Given the description of an element on the screen output the (x, y) to click on. 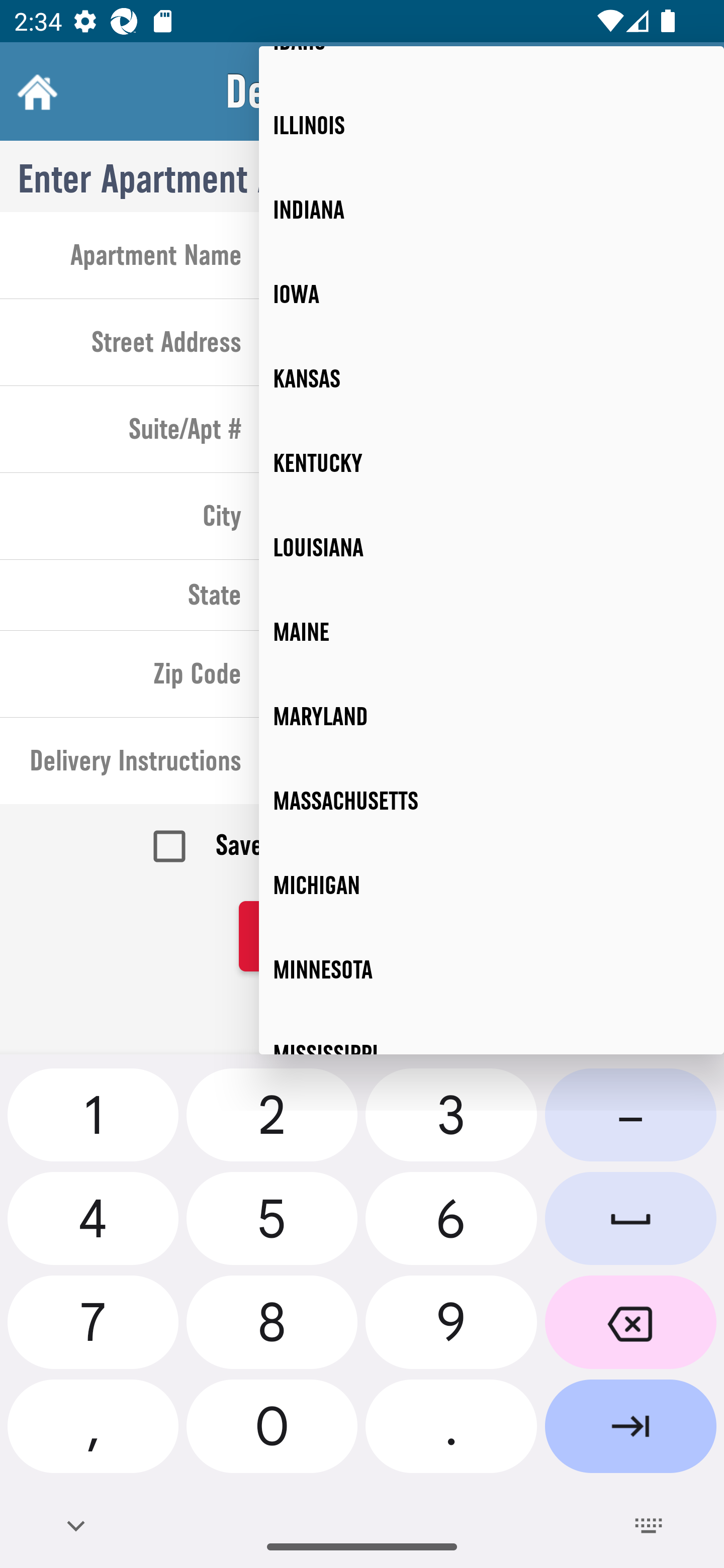
ILLINOIS (491, 125)
INDIANA (491, 209)
IOWA (491, 294)
KANSAS (491, 379)
KENTUCKY (491, 462)
LOUISIANA (491, 546)
MAINE (491, 631)
MARYLAND (491, 716)
MASSACHUSETTS (491, 800)
MICHIGAN (491, 885)
MINNESOTA (491, 970)
